Given the description of an element on the screen output the (x, y) to click on. 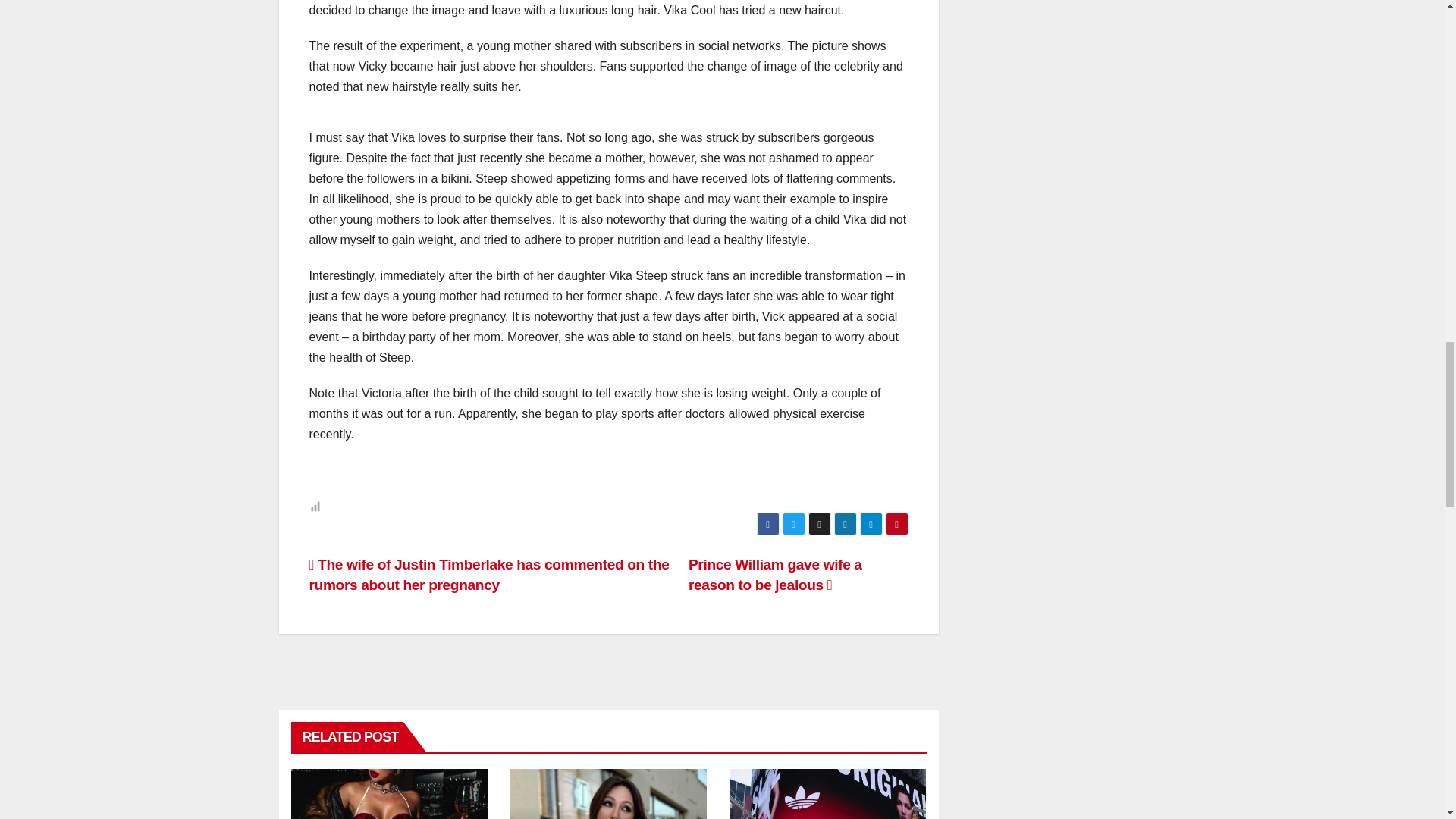
Prince William gave wife a reason to be jealous (774, 574)
